Given the description of an element on the screen output the (x, y) to click on. 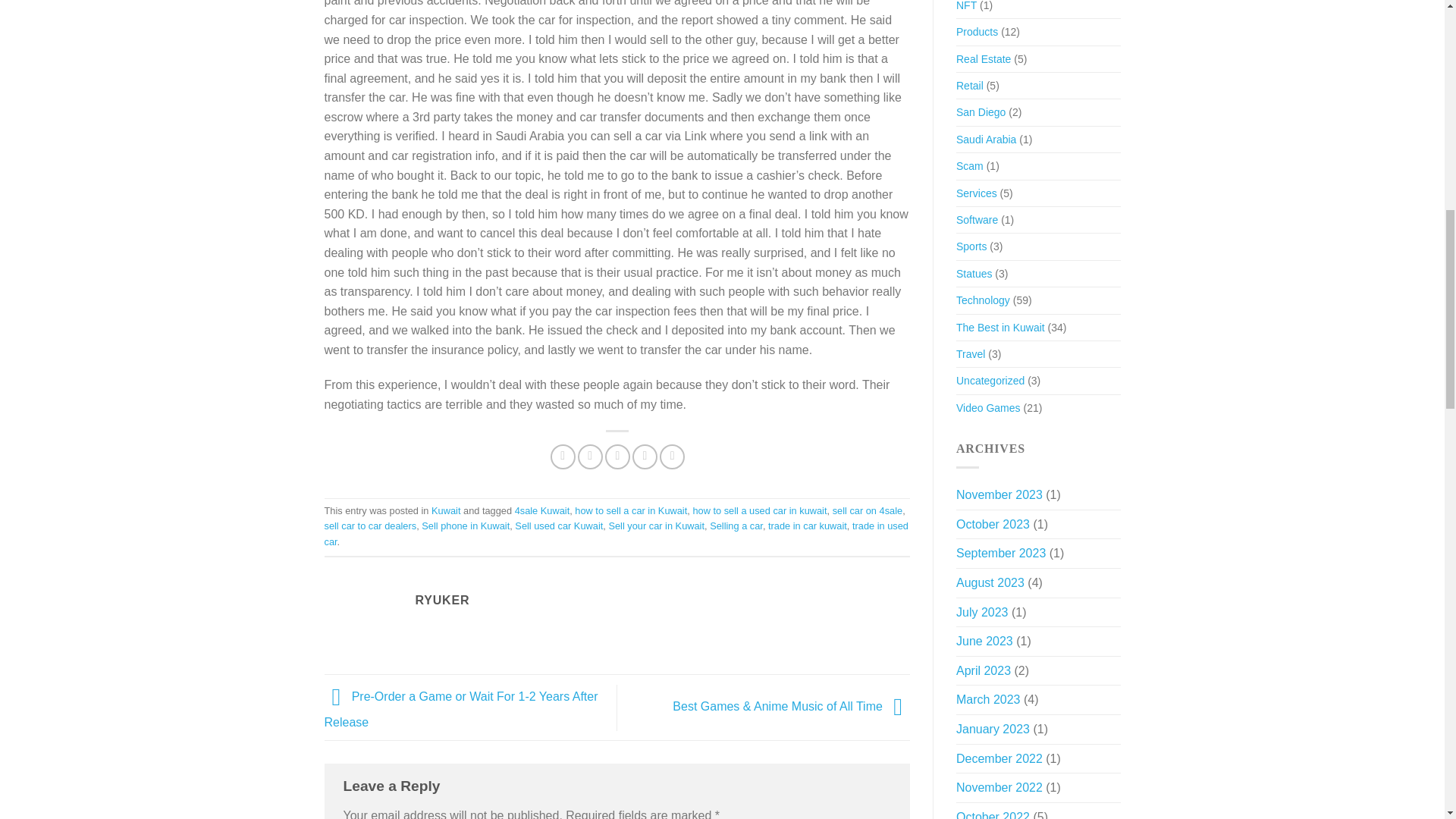
sell car on 4sale (867, 510)
how to sell a used car in kuwait (760, 510)
Email to a Friend (617, 456)
Pre-Order a Game or Wait For 1-2 Years After Release (461, 709)
Sell your car in Kuwait (656, 525)
Kuwait (445, 510)
Share on Twitter (590, 456)
trade in used car (616, 533)
Pin on Pinterest (644, 456)
how to sell a car in Kuwait (631, 510)
sell car to car dealers (370, 525)
trade in car kuwait (807, 525)
4sale Kuwait (542, 510)
Sell used car Kuwait (558, 525)
Sell phone in Kuwait (465, 525)
